Given the description of an element on the screen output the (x, y) to click on. 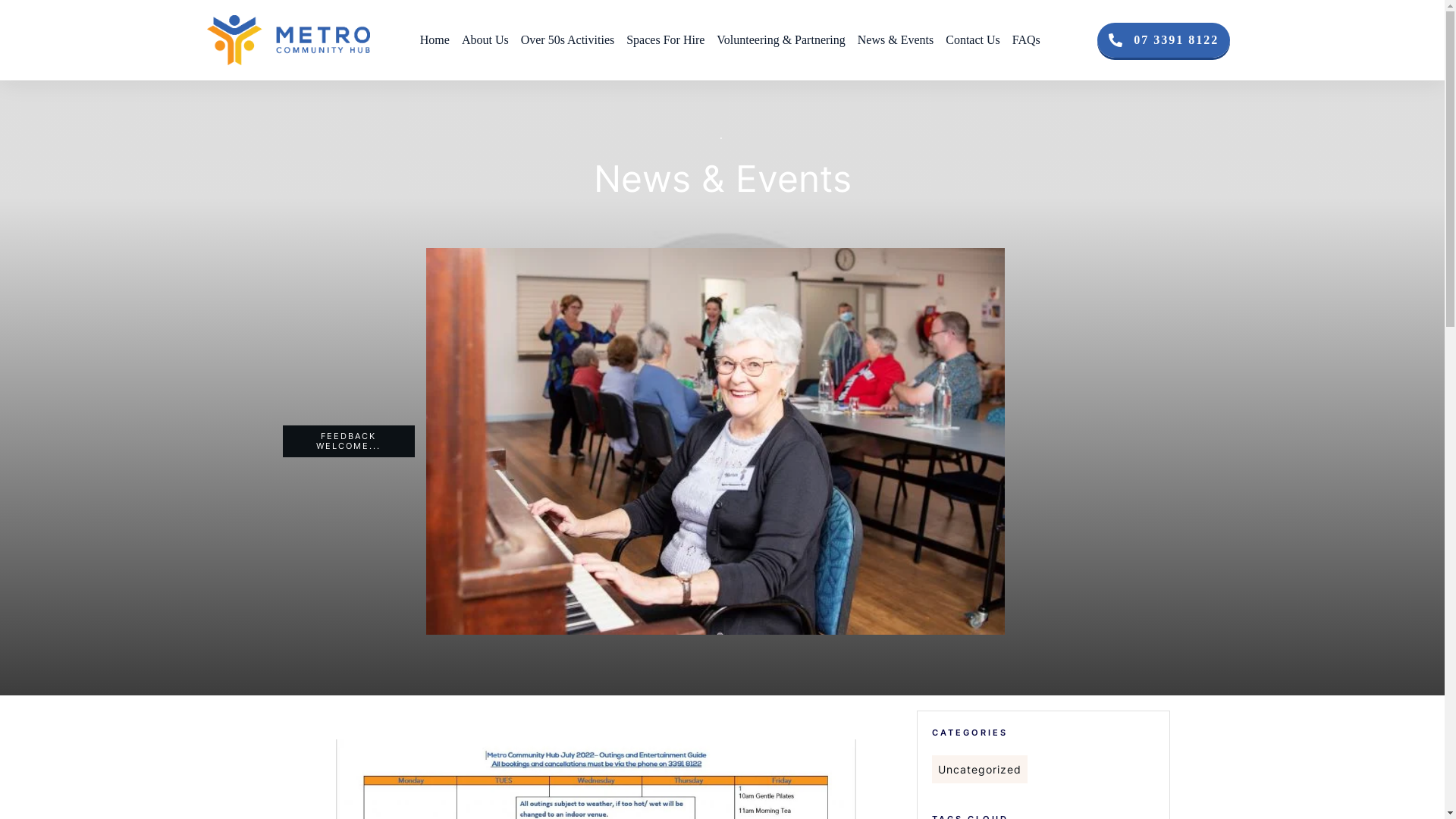
MCH May 2022_031 Element type: hover (715, 440)
Contact Us Element type: text (972, 40)
News & Events Element type: text (895, 40)
About Us Element type: text (484, 40)
07 3391 8122 Element type: text (1163, 39)
Spaces For Hire Element type: text (665, 40)
Volunteering & Partnering Element type: text (780, 40)
FAQs Element type: text (1026, 40)
Home Element type: text (434, 40)
Over 50s Activities Element type: text (567, 40)
Uncategorized Element type: text (978, 769)
